Given the description of an element on the screen output the (x, y) to click on. 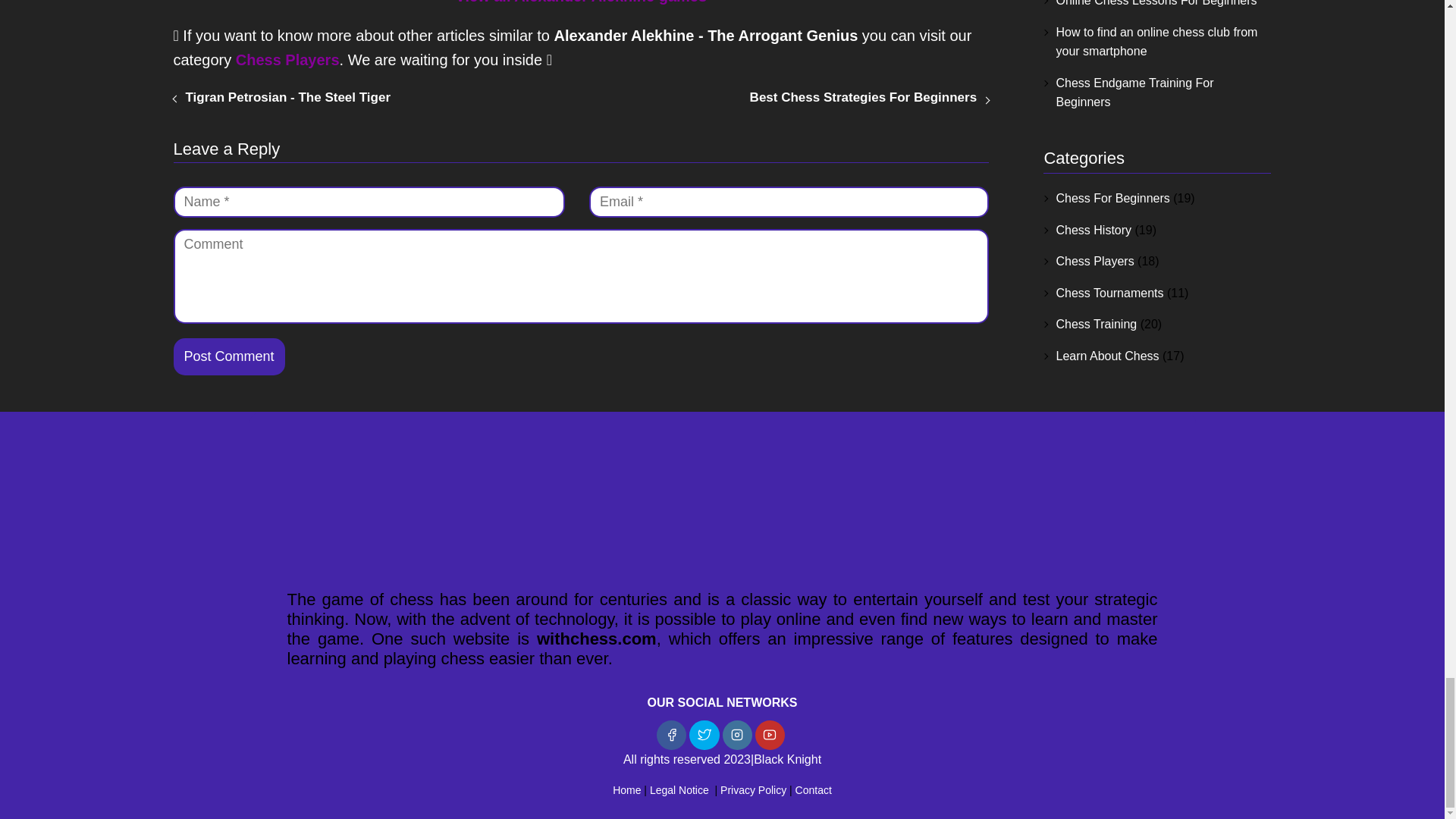
Best Chess Strategies For Beginners (862, 97)
Tigran Petrosian - The Steel Tiger (287, 97)
Post Comment (228, 356)
Chess Players (287, 59)
View all Alexander Alekhine games (580, 2)
